Given the description of an element on the screen output the (x, y) to click on. 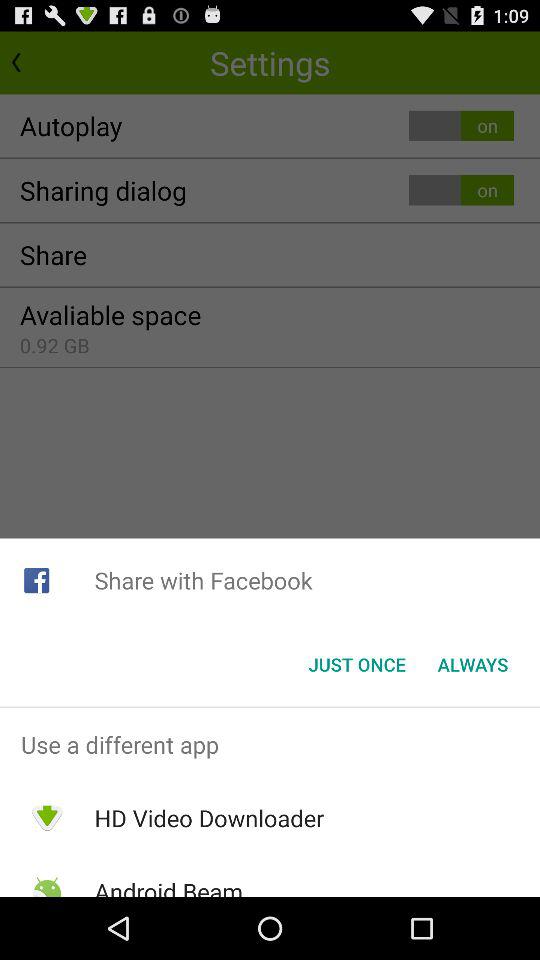
choose the always at the bottom right corner (472, 664)
